Given the description of an element on the screen output the (x, y) to click on. 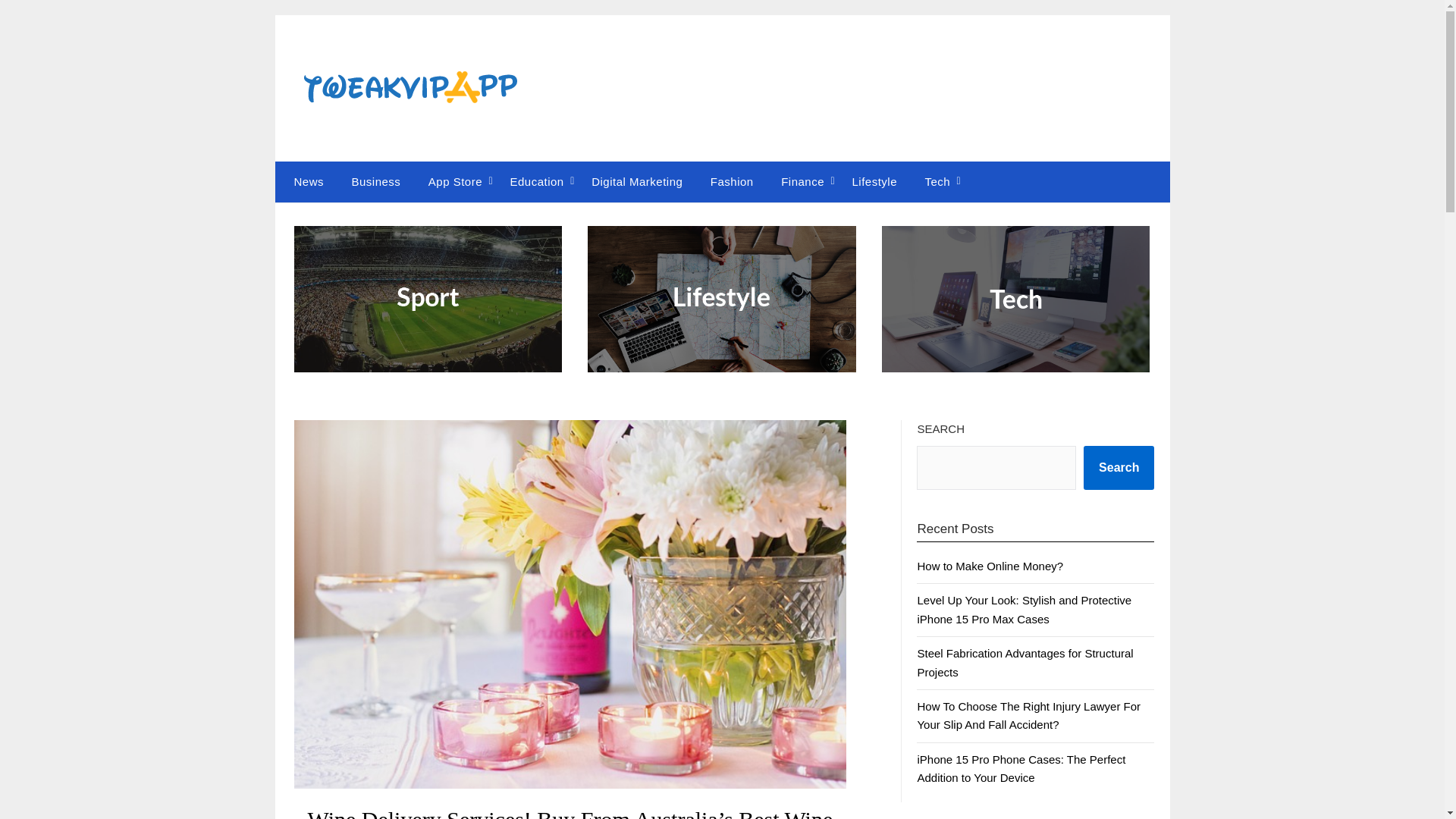
Steel Fabrication Advantages for Structural Projects (1024, 662)
Finance (801, 181)
Education (536, 181)
App Store (455, 181)
Tech (937, 181)
Lifestyle (874, 181)
Digital Marketing (636, 181)
Search (1118, 467)
News (305, 181)
Business (375, 181)
Fashion (731, 181)
How to Make Online Money? (989, 565)
